Given the description of an element on the screen output the (x, y) to click on. 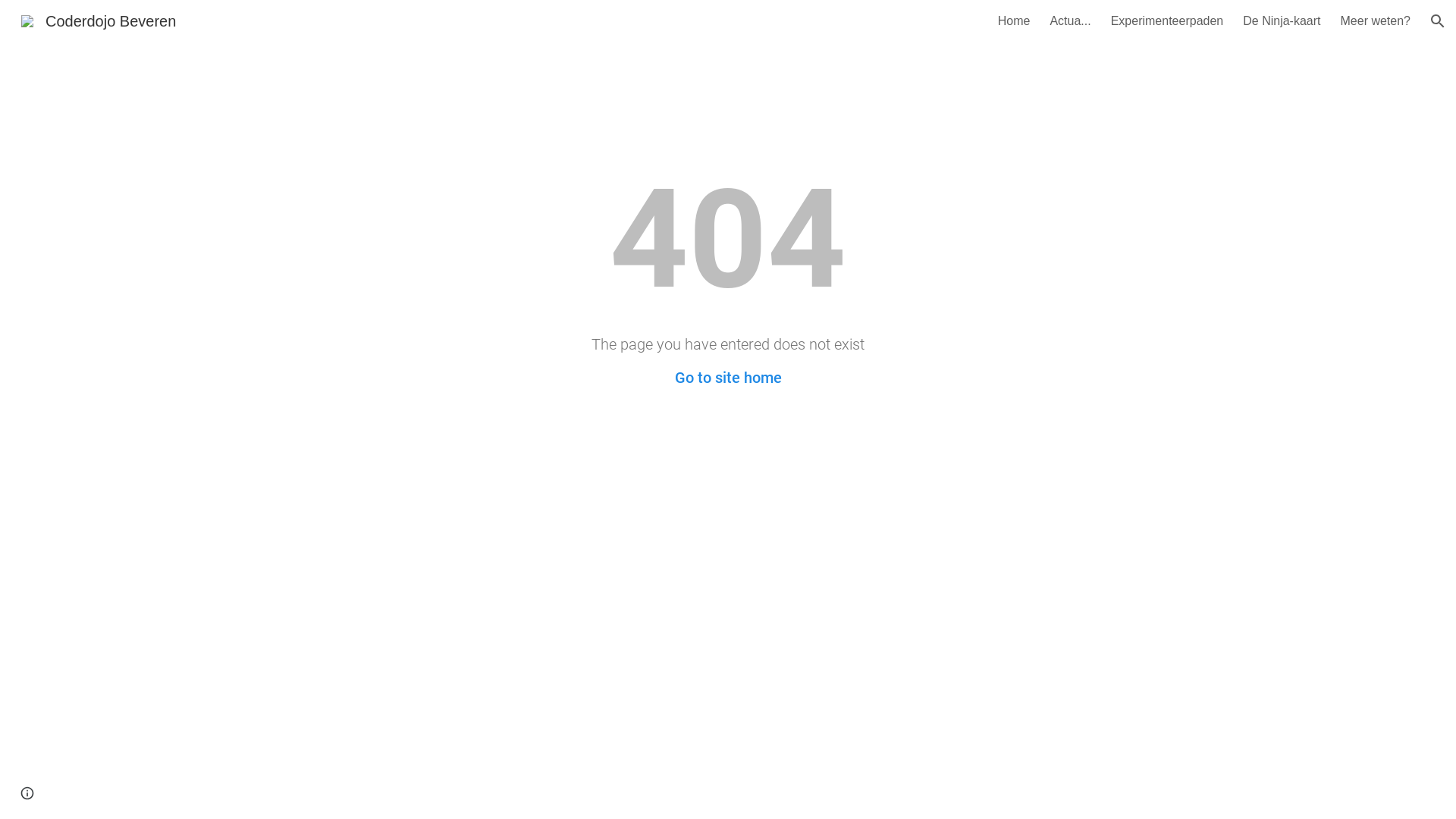
Actua... Element type: text (1069, 21)
Meer weten? Element type: text (1375, 21)
Coderdojo Beveren Element type: text (98, 19)
Experimenteerpaden Element type: text (1166, 21)
Go to site home Element type: text (727, 377)
Home Element type: text (1013, 21)
De Ninja-kaart Element type: text (1281, 21)
